Given the description of an element on the screen output the (x, y) to click on. 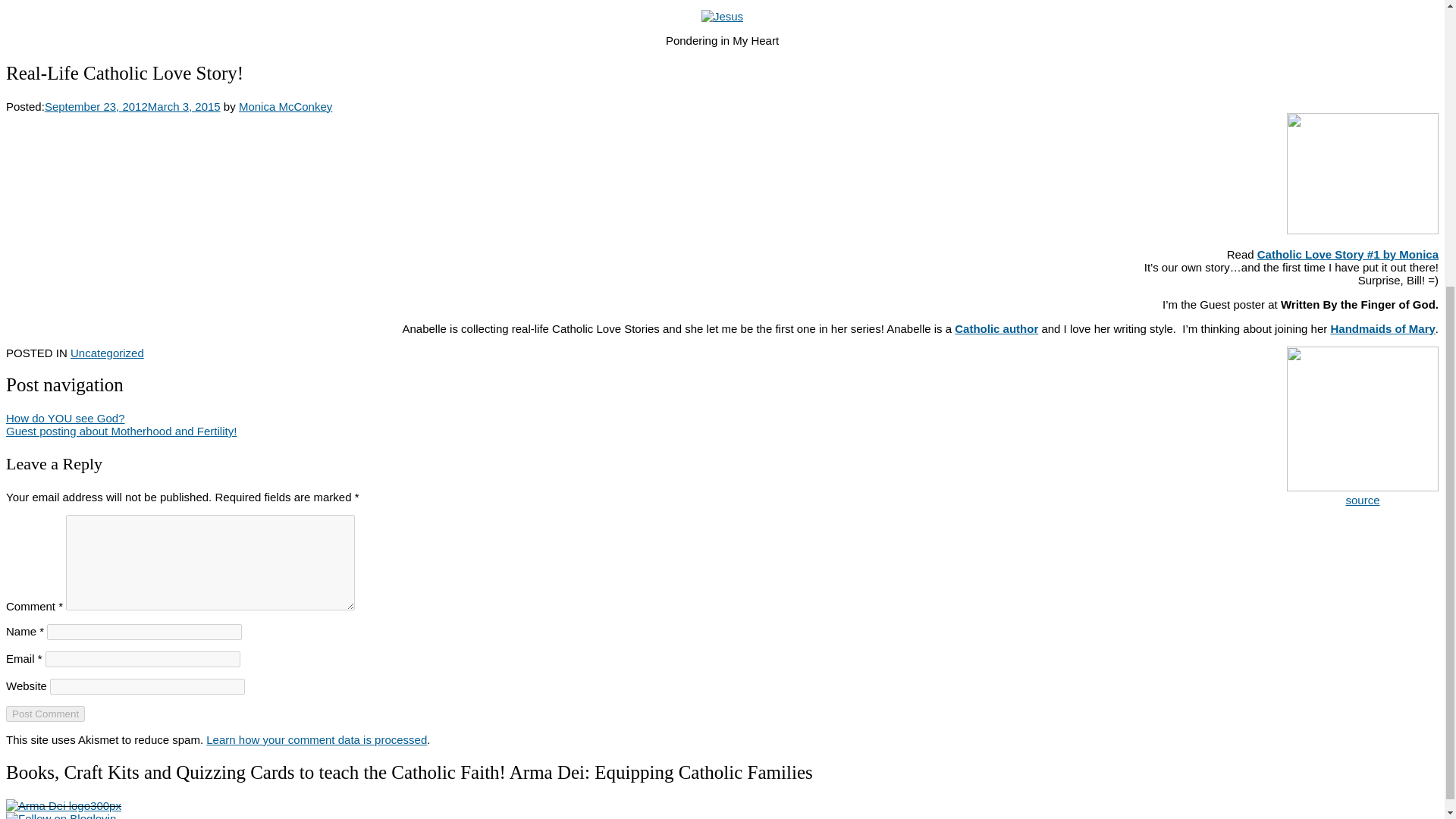
Catholic author (996, 328)
Learn how your comment data is processed (316, 739)
How do YOU see God? (64, 418)
Post Comment (44, 713)
source (1361, 499)
September 23, 2012March 3, 2015 (133, 105)
Uncategorized (106, 352)
Monica McConkey (284, 105)
Post Comment (44, 713)
Guest posting about Motherhood and Fertility! (120, 431)
